Given the description of an element on the screen output the (x, y) to click on. 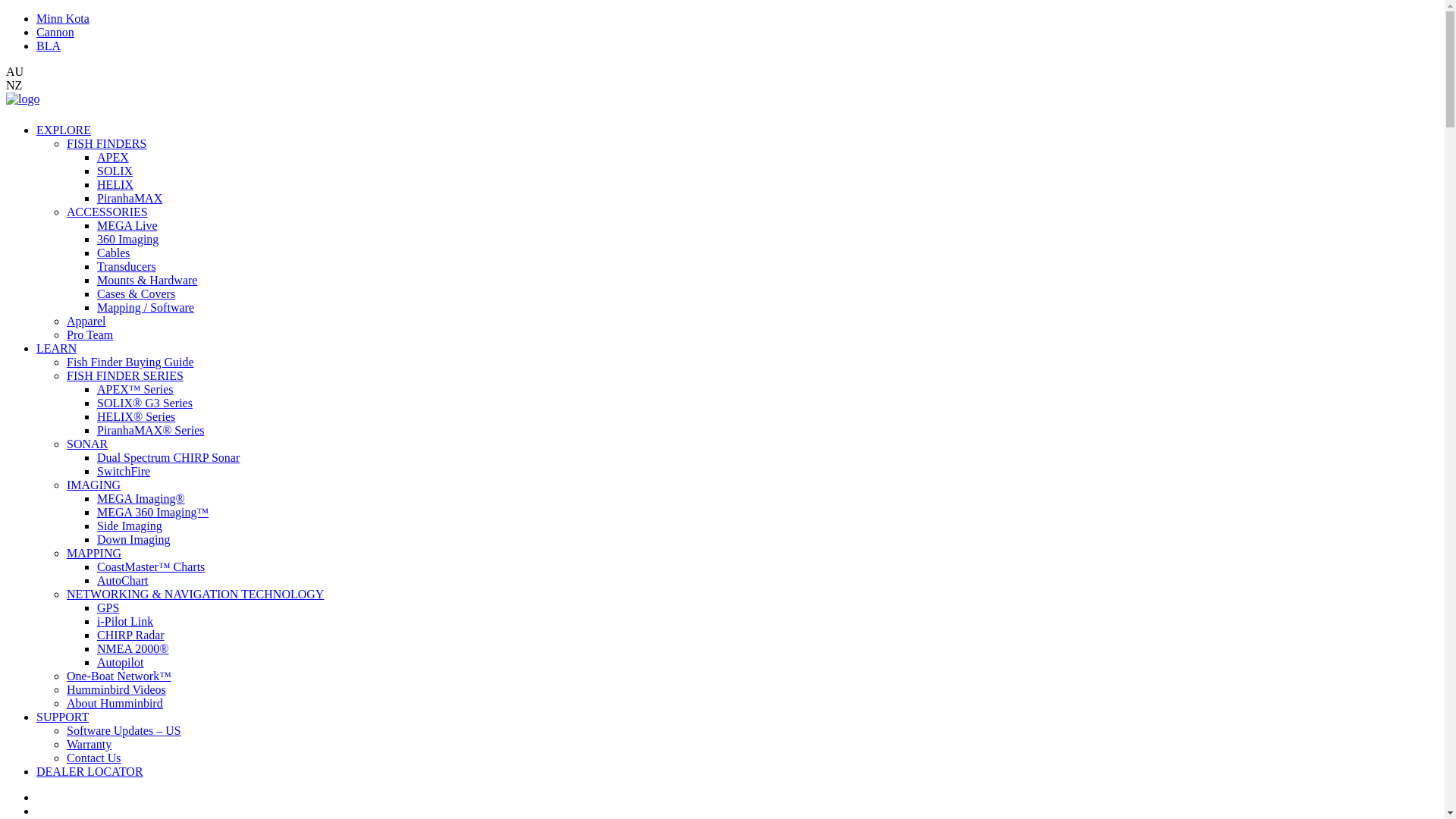
Dual Spectrum CHIRP Sonar Element type: text (168, 457)
Mapping / Software Element type: text (145, 307)
Autopilot Element type: text (120, 661)
SOLIX Element type: text (114, 170)
Side Imaging Element type: text (129, 525)
CHIRP Radar Element type: text (130, 634)
HELIX Element type: text (115, 184)
BLA Element type: text (48, 45)
MEGA Live Element type: text (127, 225)
Cannon Element type: text (55, 31)
PiranhaMAX Element type: text (129, 197)
Cases & Covers Element type: text (136, 293)
Transducers Element type: text (126, 266)
ACCESSORIES Element type: text (106, 211)
SONAR Element type: text (86, 443)
Fish Finder Buying Guide Element type: text (130, 361)
APEX Element type: text (112, 156)
Minn Kota Element type: text (62, 18)
Contact Us Element type: text (93, 757)
FISH FINDER SERIES Element type: text (124, 375)
DEALER LOCATOR Element type: text (89, 771)
Apparel Element type: text (86, 320)
360 Imaging Element type: text (127, 238)
NETWORKING & NAVIGATION TECHNOLOGY Element type: text (194, 593)
LEARN Element type: text (56, 348)
Down Imaging Element type: text (133, 539)
Humminbird Videos Element type: text (116, 689)
AutoChart Element type: text (122, 580)
GPS Element type: text (108, 607)
Cables Element type: text (113, 252)
IMAGING Element type: text (93, 484)
EXPLORE Element type: text (63, 129)
SwitchFire Element type: text (123, 470)
FISH FINDERS Element type: text (106, 143)
Mounts & Hardware Element type: text (147, 279)
Warranty Element type: text (88, 743)
SUPPORT Element type: text (62, 716)
Pro Team Element type: text (89, 334)
i-Pilot Link Element type: text (125, 621)
About Humminbird Element type: text (114, 702)
MAPPING Element type: text (93, 552)
